Given the description of an element on the screen output the (x, y) to click on. 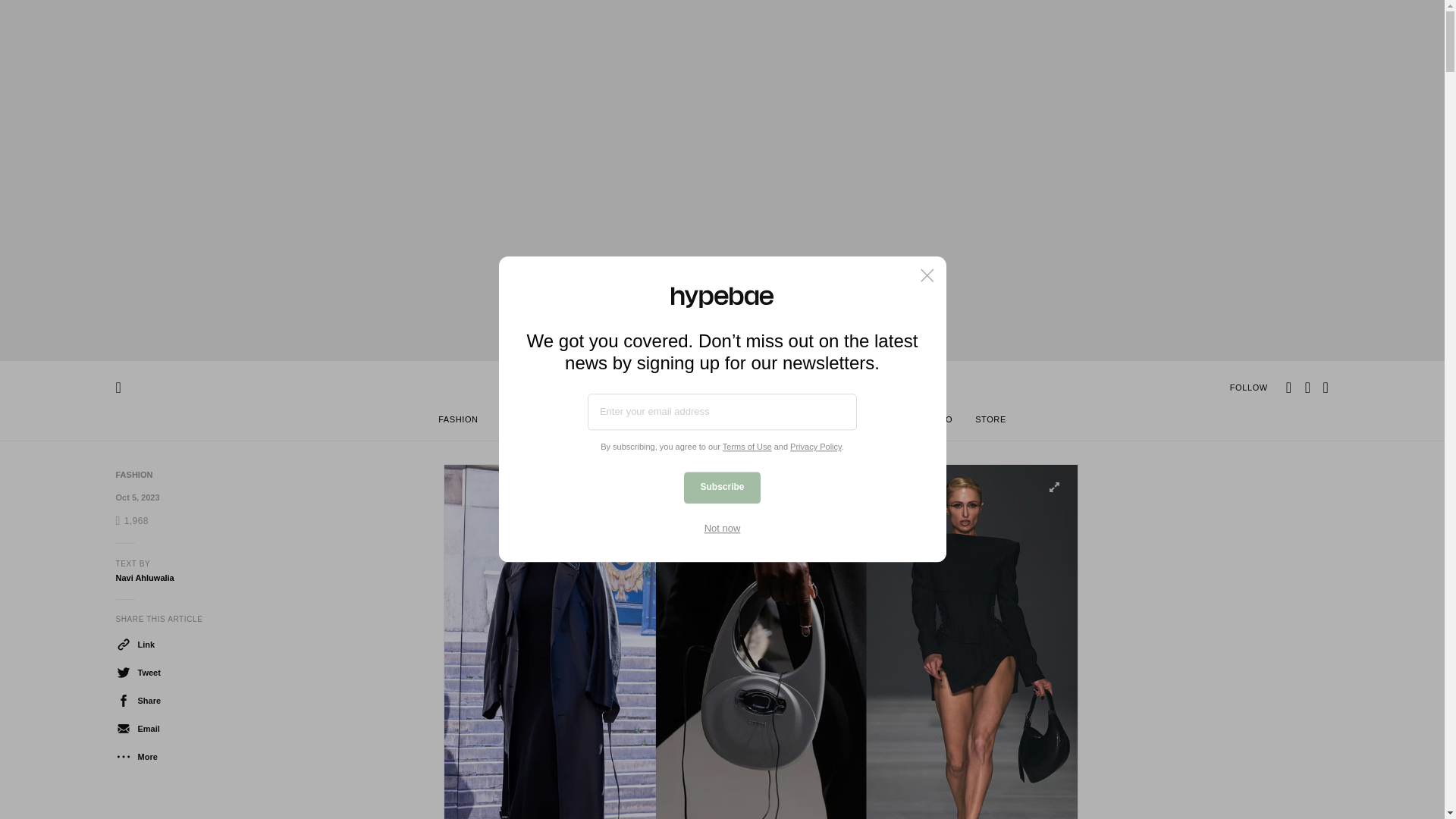
CULTURE (879, 421)
Navi Ahluwalia (144, 577)
FOOTWEAR (526, 421)
STORE (990, 421)
RADIO (937, 421)
FOLLOW (1248, 387)
FASHION (133, 474)
BEAUTY (593, 421)
FASHION (457, 421)
Fashion (133, 474)
MUSIC (820, 421)
